Given the description of an element on the screen output the (x, y) to click on. 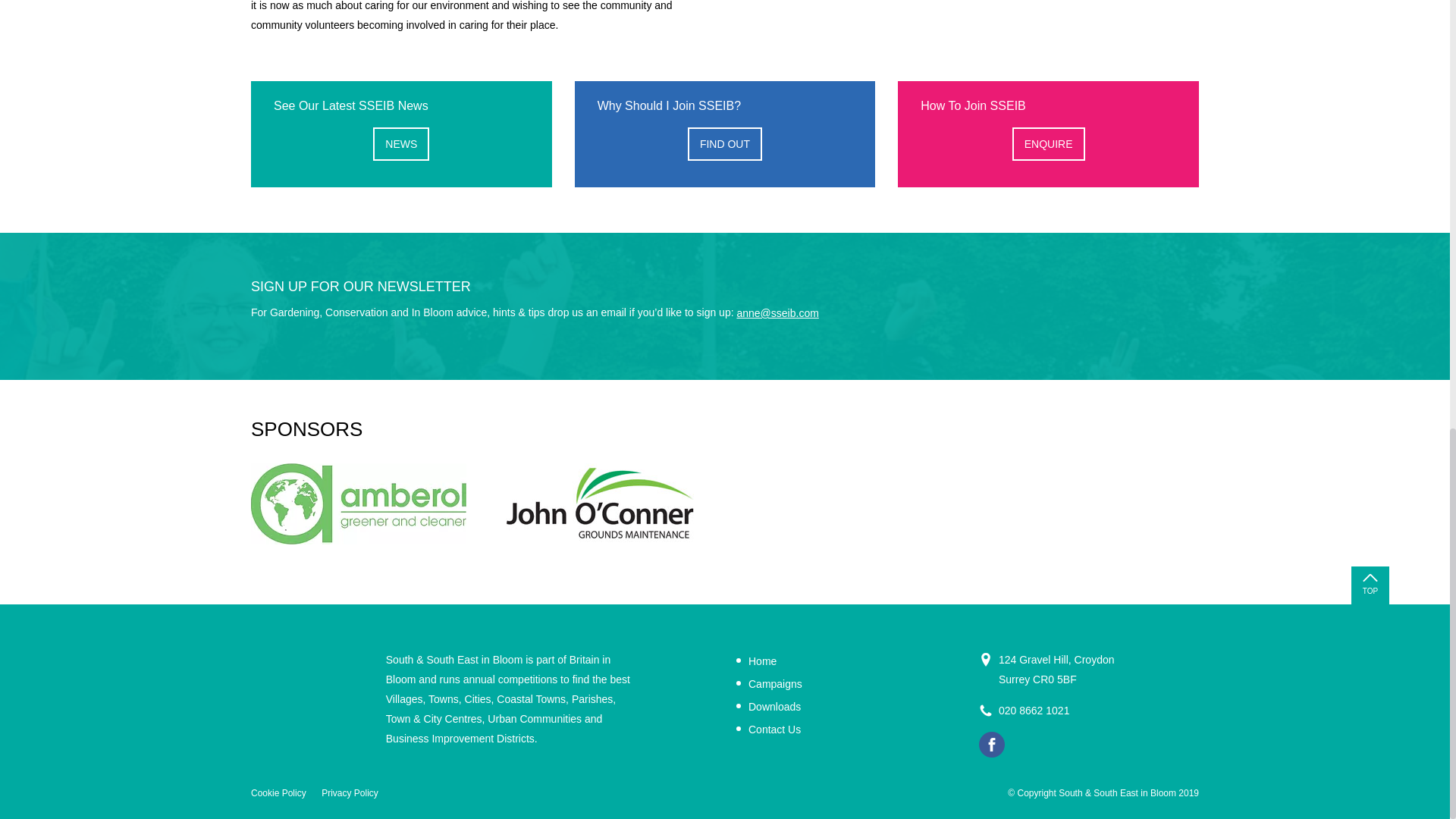
John O'Conner Grounds Maintenance (601, 504)
FIND OUT (724, 143)
NEWS (400, 143)
Campaigns (769, 683)
Amberol Greener and Cleaner (357, 504)
ENQUIRE (1047, 143)
Contact Us (768, 729)
Downloads (768, 706)
TOP (1370, 585)
Home (756, 661)
